Given the description of an element on the screen output the (x, y) to click on. 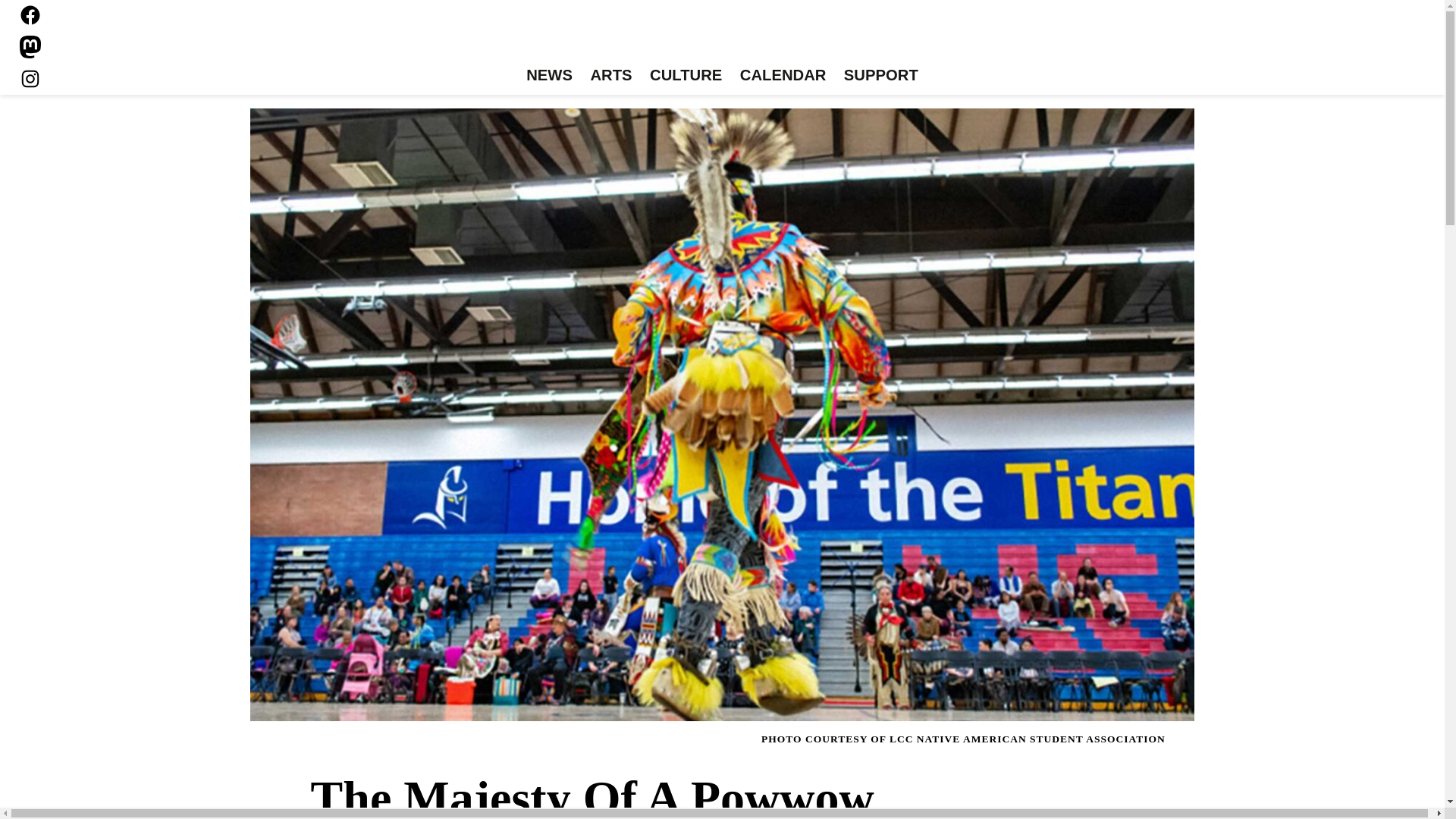
Instagram (30, 78)
Mastodon (30, 47)
ARTS (611, 75)
SUPPORT (880, 75)
CULTURE (685, 75)
CALENDAR (782, 75)
Facebook (30, 15)
Eugene Weekly (721, 37)
NEWS (548, 75)
